Given the description of an element on the screen output the (x, y) to click on. 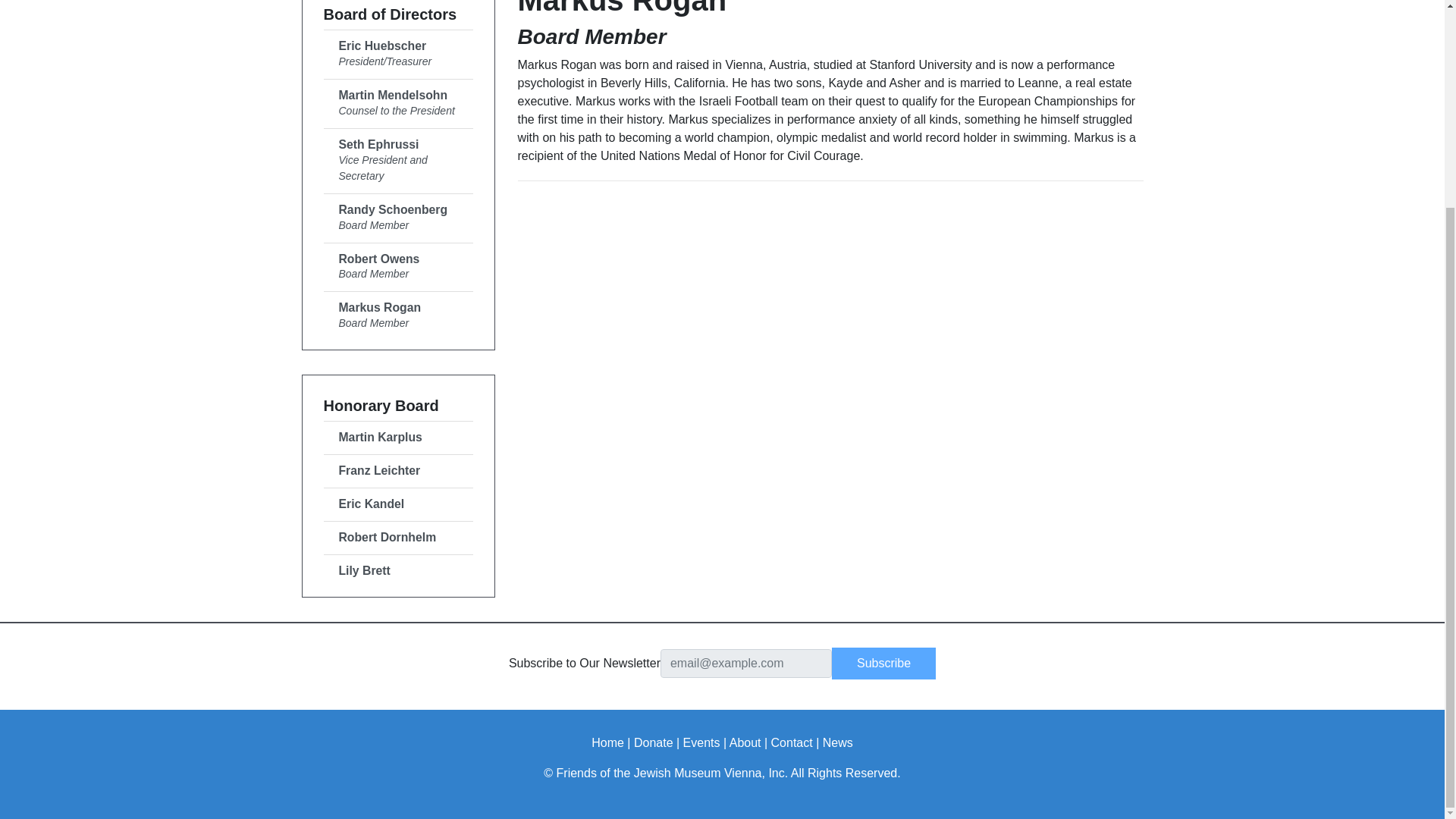
Donate (397, 160)
Martin Karplus (652, 742)
Lily Brett (397, 437)
Eric Kandel (397, 571)
Events (397, 315)
Home (397, 504)
Franz Leichter (397, 103)
